Given the description of an element on the screen output the (x, y) to click on. 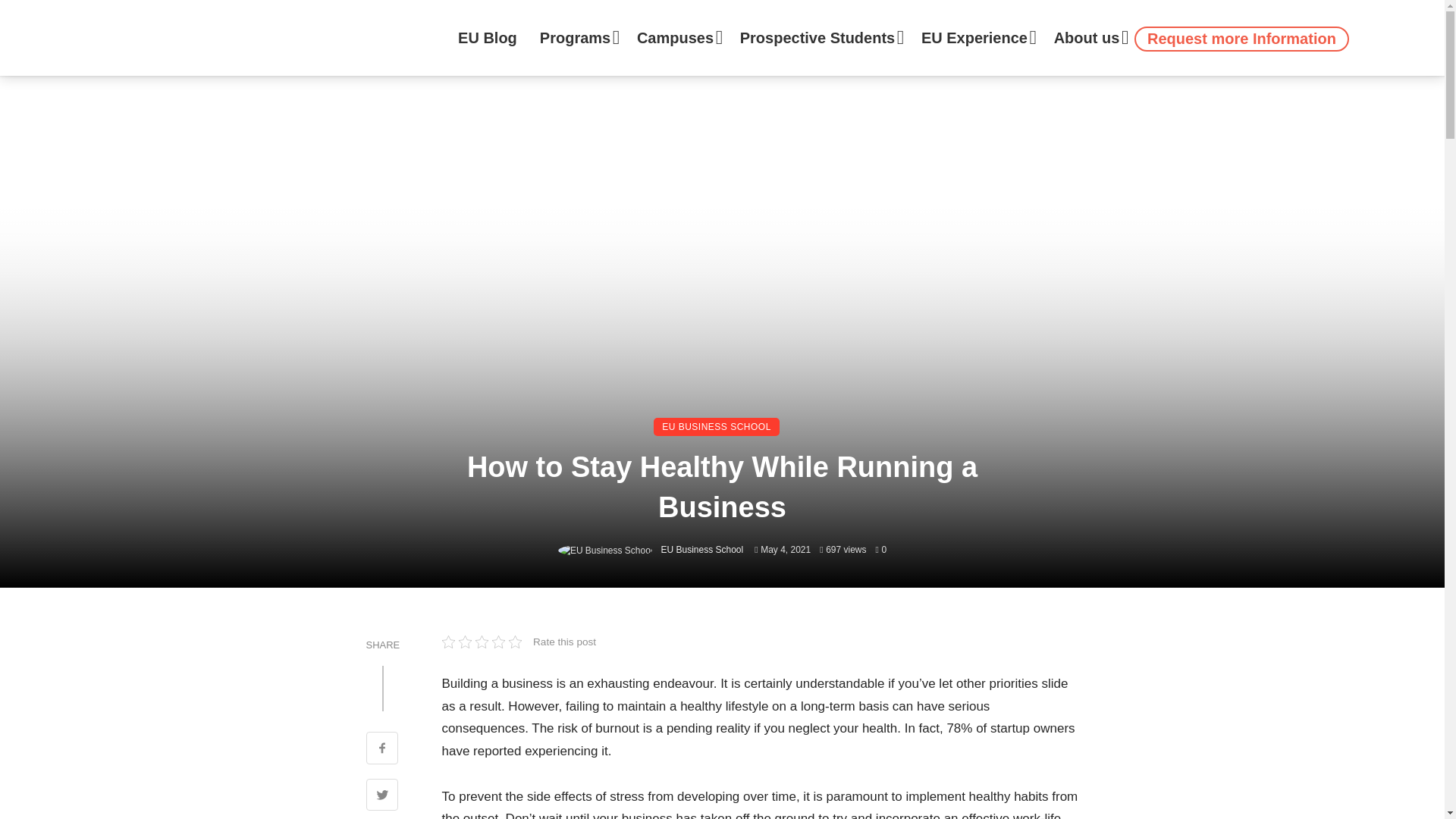
About us (1088, 37)
Share on Twitter (381, 796)
Share on Facebook (381, 750)
About EU (1088, 37)
EU Experience (976, 37)
Programs (577, 37)
EU Blog (487, 37)
Prospective Students (819, 37)
Campuses (677, 37)
May 4, 2021 at 9:00 am (782, 549)
